Given the description of an element on the screen output the (x, y) to click on. 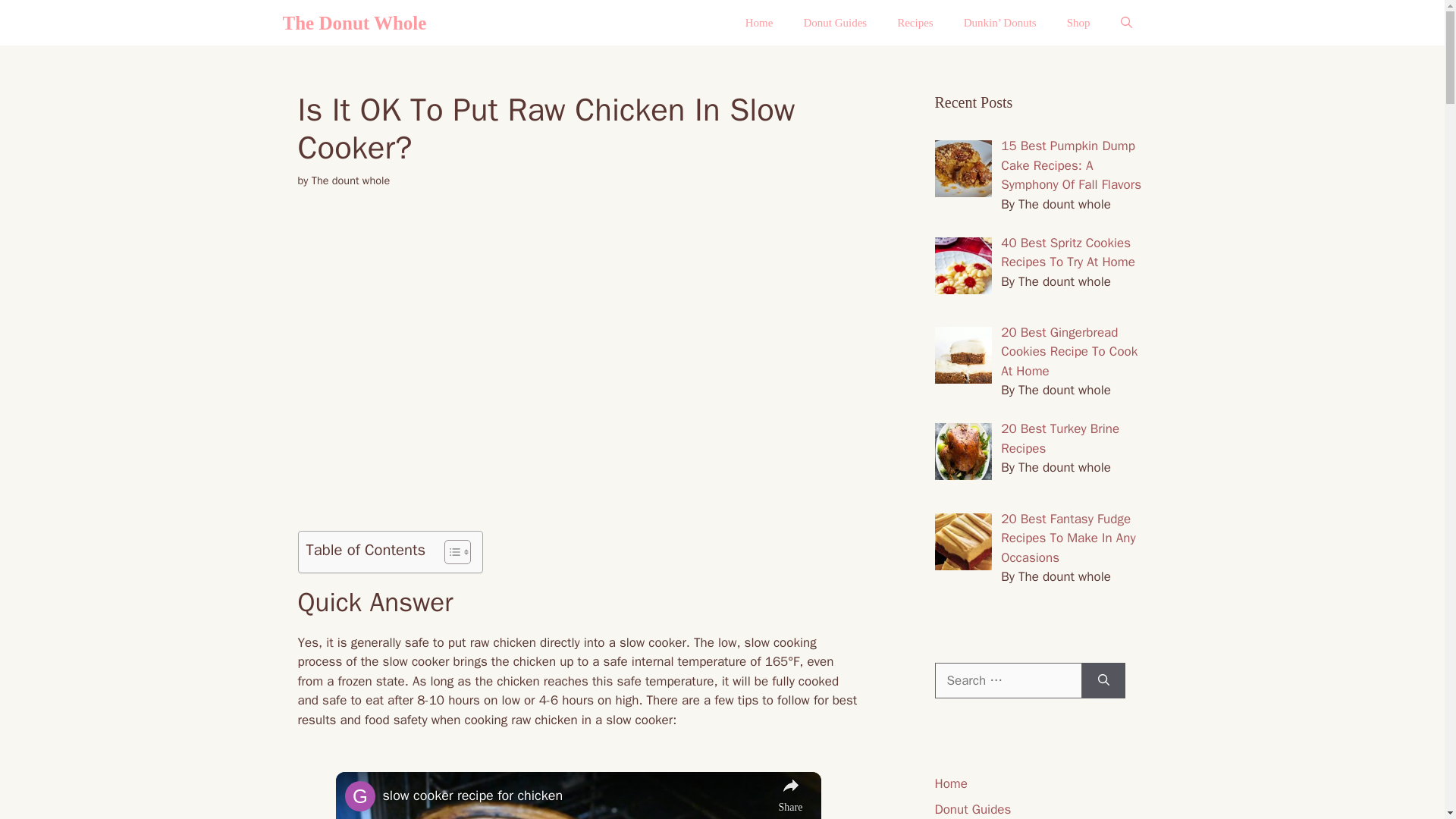
Shop (1078, 22)
The Donut Whole (354, 22)
View all posts by The dount whole (350, 180)
Donut Guides (834, 22)
Home (759, 22)
The dount whole (350, 180)
Recipes (914, 22)
